Given the description of an element on the screen output the (x, y) to click on. 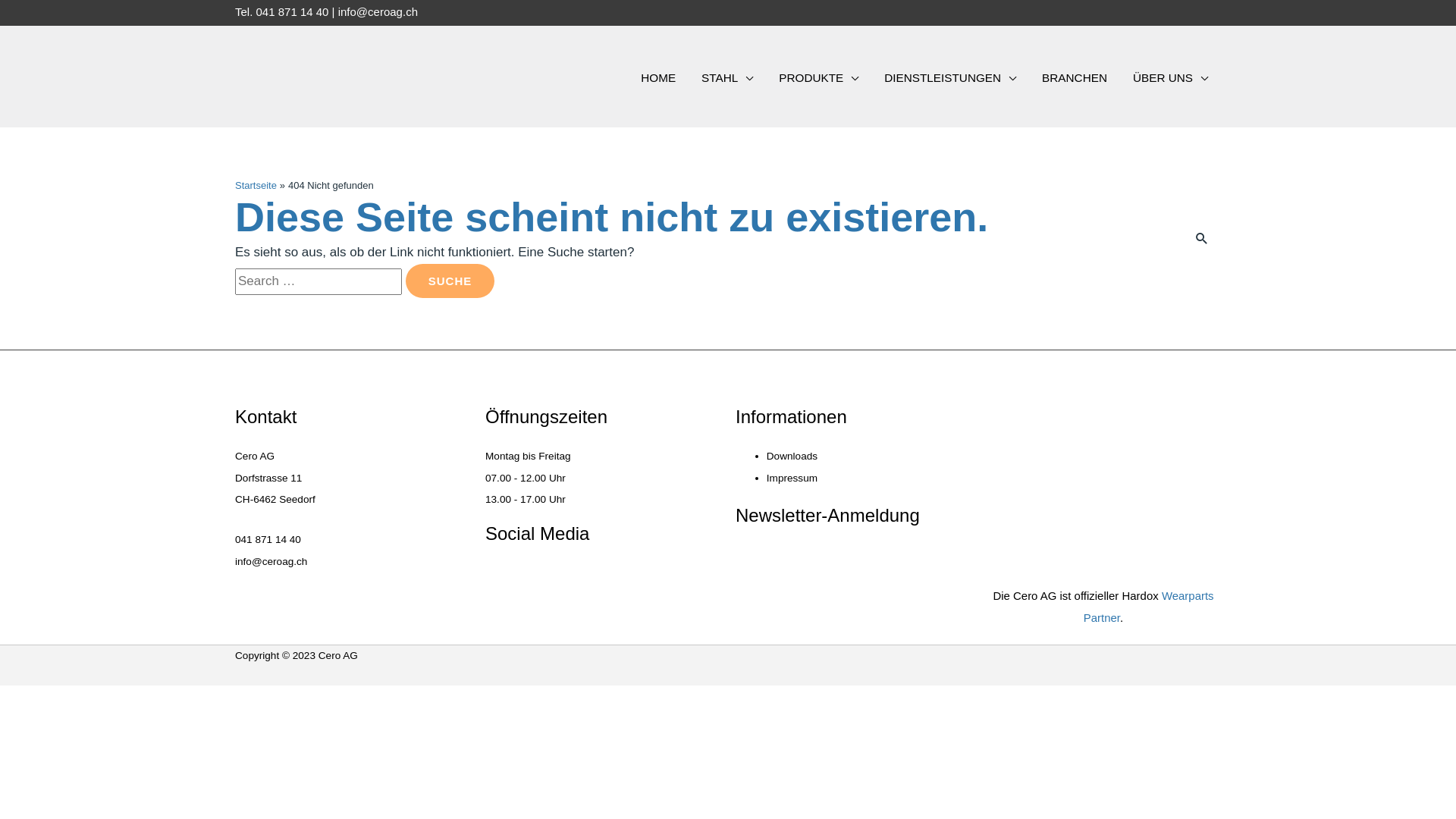
STAHL Element type: text (726, 78)
BRANCHEN Element type: text (1074, 78)
DIENSTLEISTUNGEN Element type: text (950, 78)
041 871 14 40 Element type: text (292, 11)
Wearparts Partner Element type: text (1148, 606)
Impressum Element type: text (791, 477)
Startseite Element type: text (255, 185)
Suche Element type: text (450, 280)
041 871 14 40 Element type: text (268, 539)
info@ceroag.ch Element type: text (377, 11)
info@ceroag.ch Element type: text (271, 561)
HOME Element type: text (657, 78)
PRODUKTE Element type: text (818, 78)
Downloads Element type: text (791, 455)
